Given the description of an element on the screen output the (x, y) to click on. 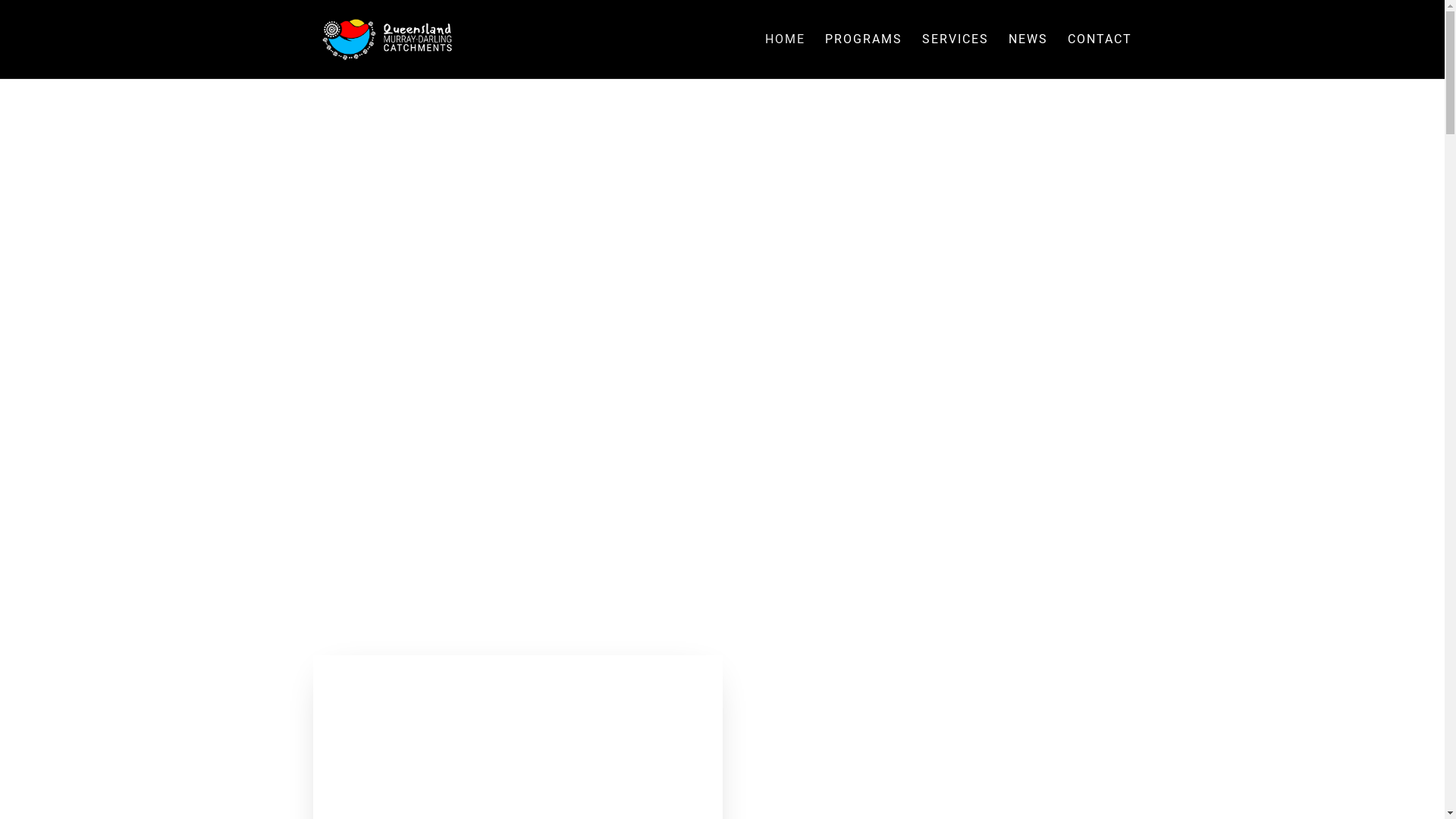
CONTACT Element type: text (1099, 56)
PROGRAMS Element type: text (863, 56)
HOME Element type: text (784, 56)
SERVICES Element type: text (955, 56)
NEWS Element type: text (1028, 56)
